Given the description of an element on the screen output the (x, y) to click on. 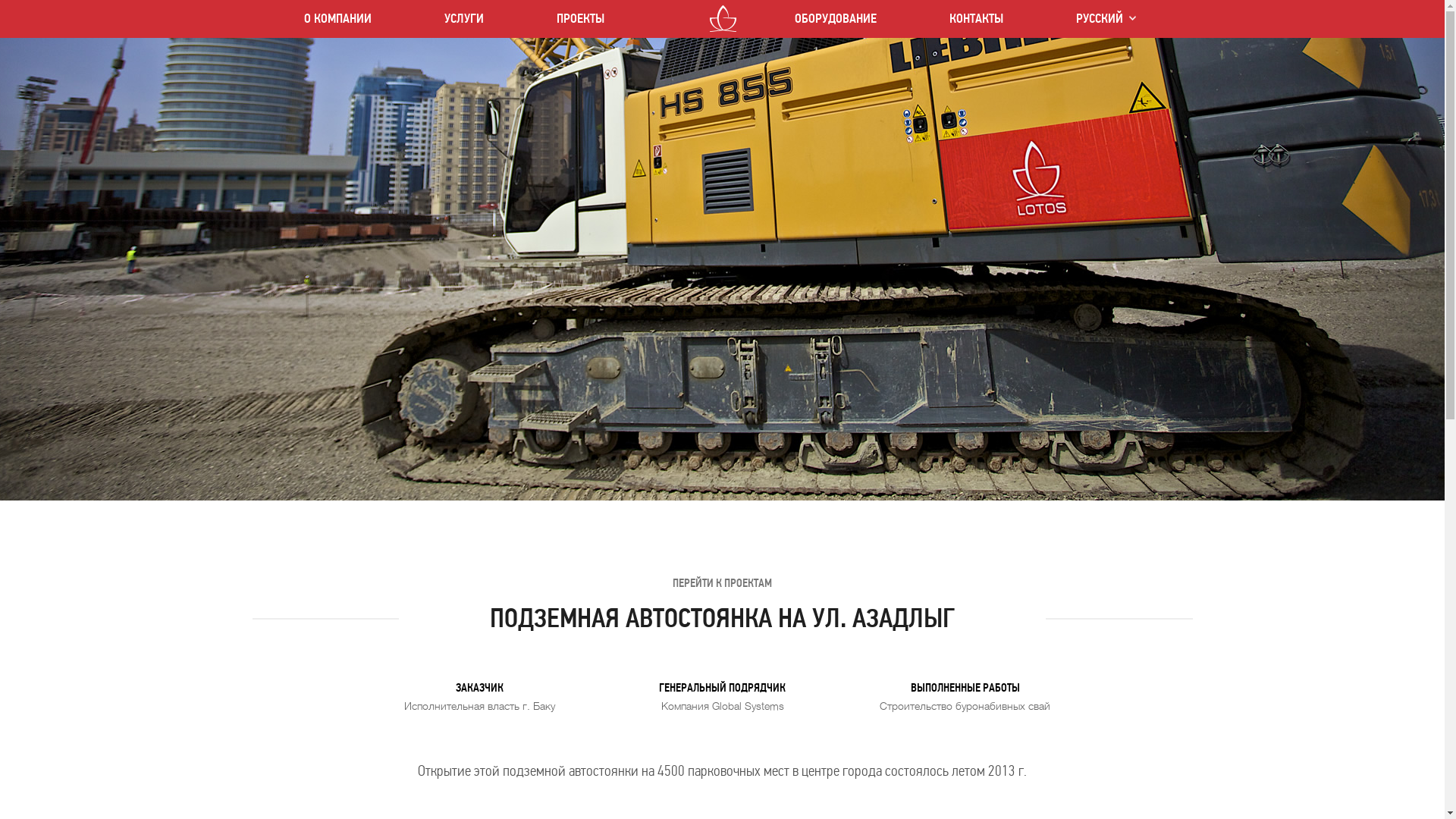
LOTOS CO LTD Element type: text (722, 18)
